Given the description of an element on the screen output the (x, y) to click on. 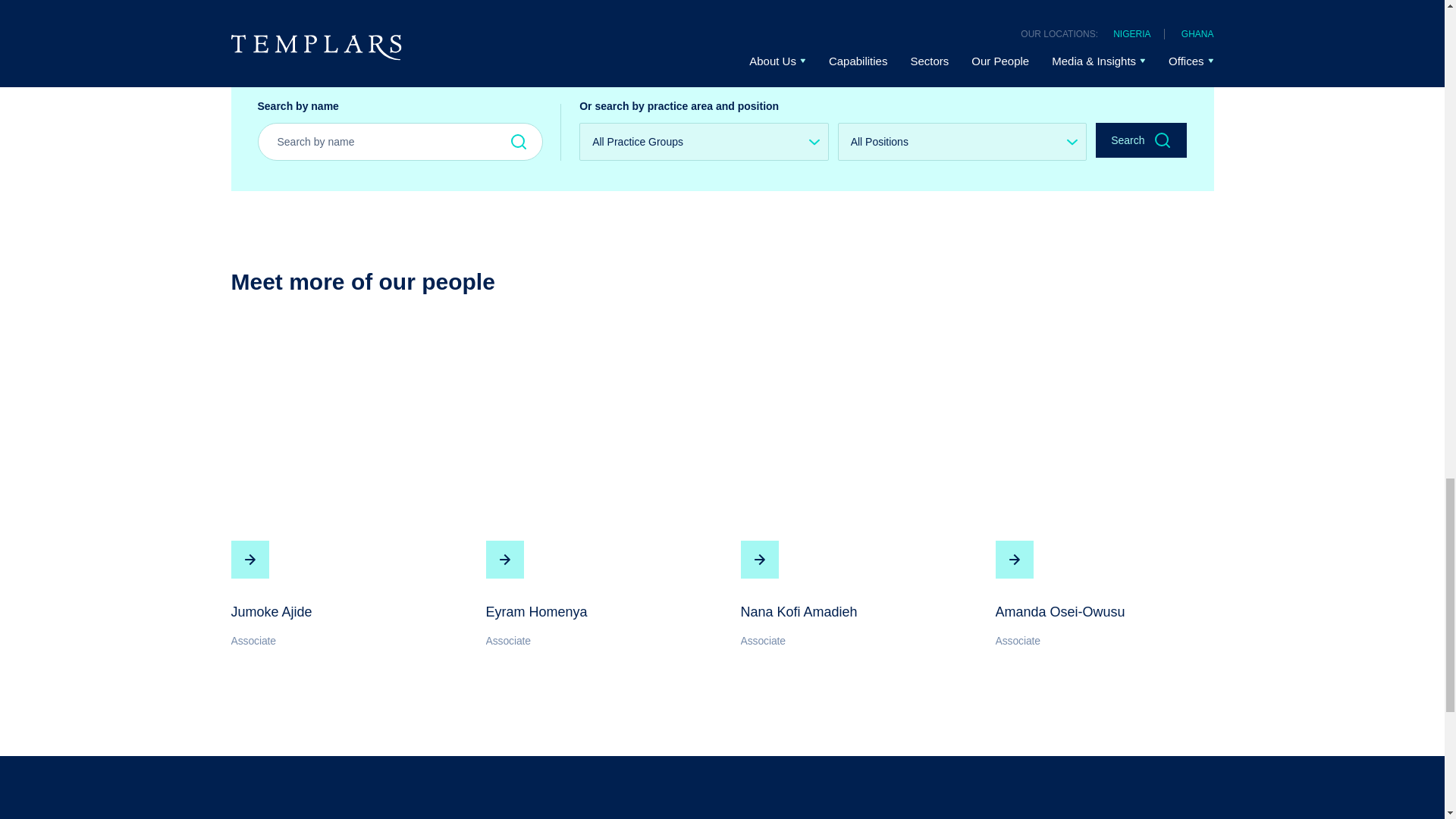
All Positions (962, 141)
All Practice Groups (703, 141)
